Given the description of an element on the screen output the (x, y) to click on. 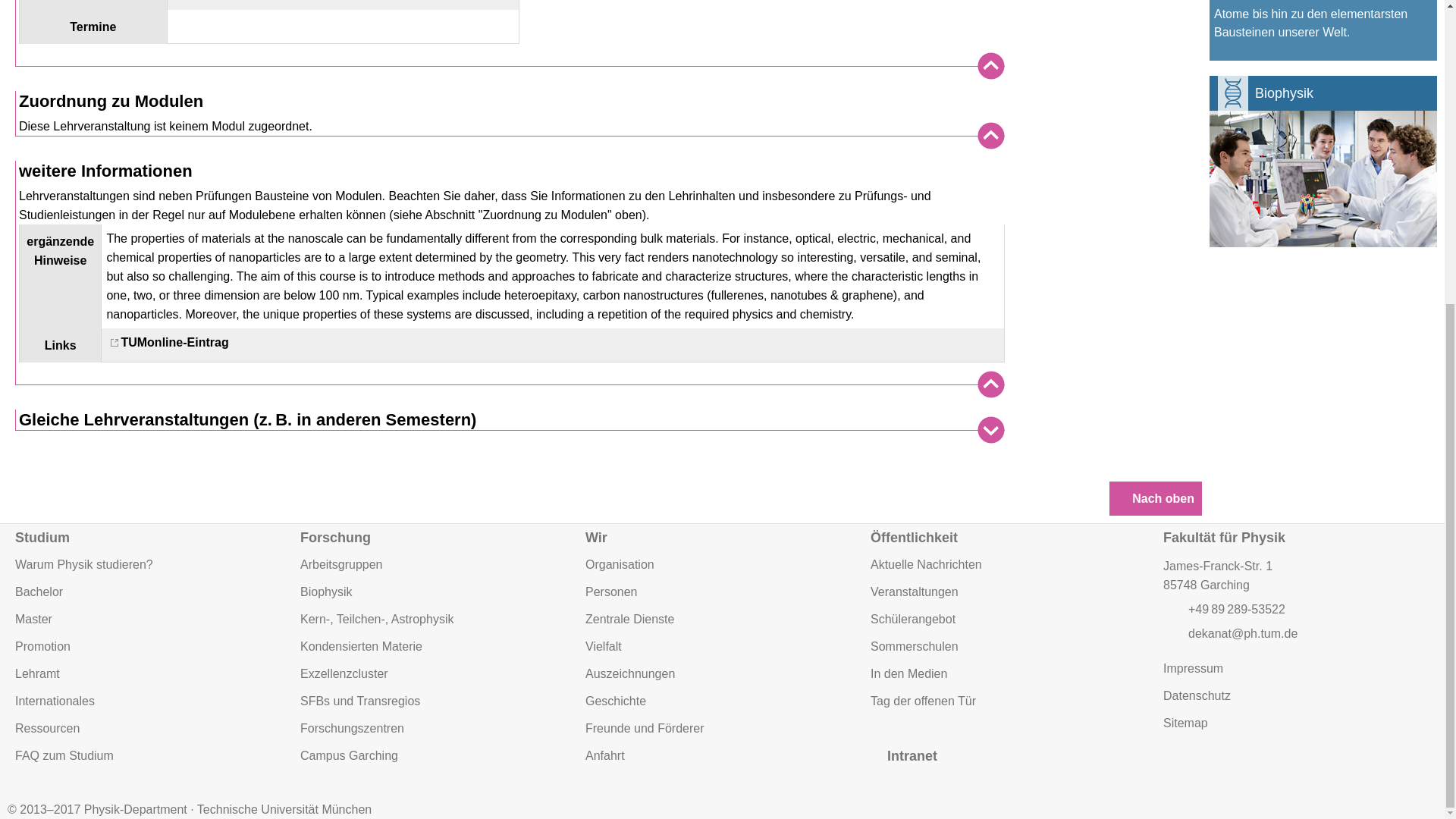
TUMonline-Eintrag (167, 341)
